Given the description of an element on the screen output the (x, y) to click on. 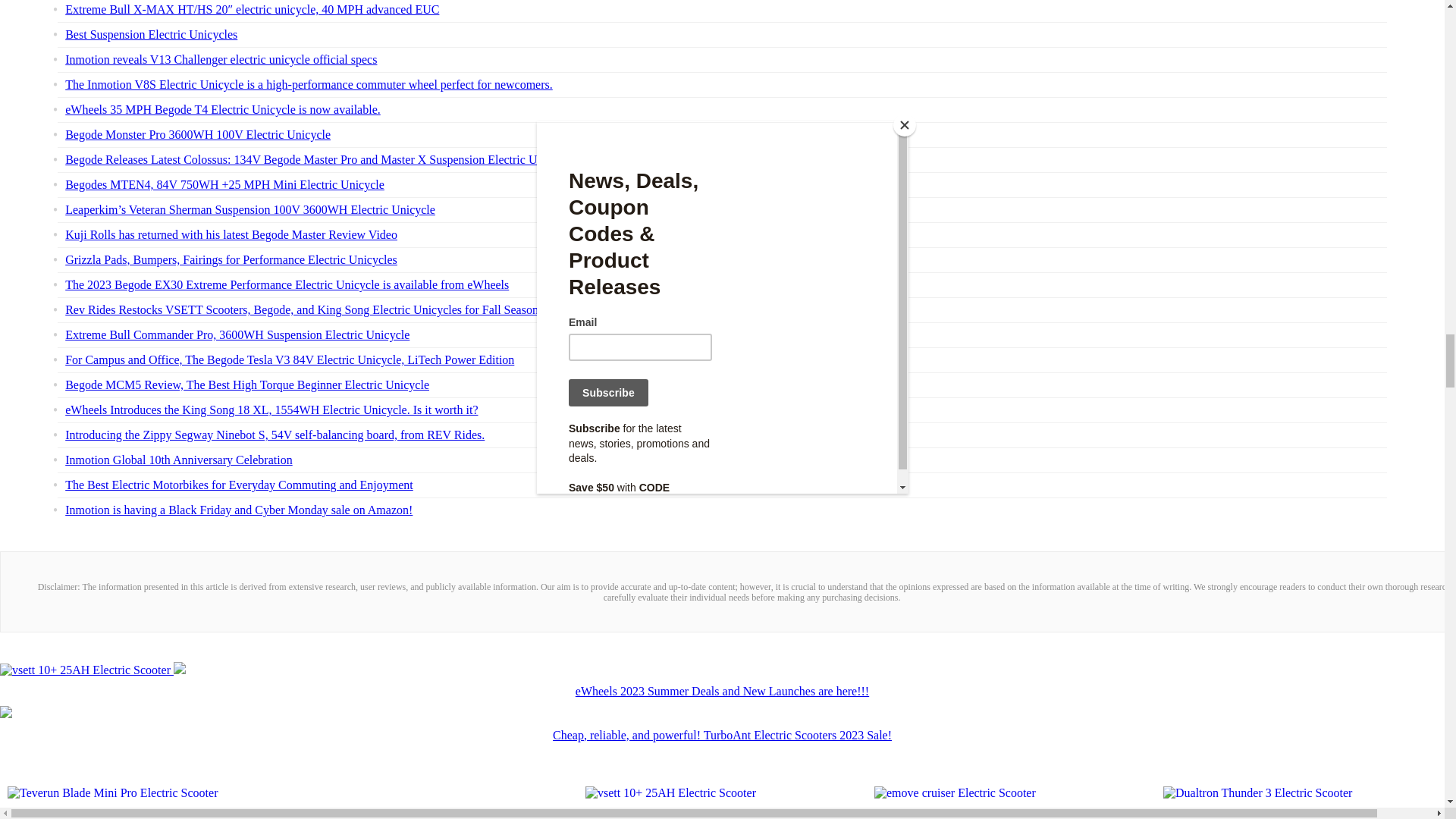
Begode Monster Pro 3600WH 100V Electric Unicycle (197, 133)
Best Suspension Electric Unicycles (151, 33)
eWheels 35 MPH Begode T4 Electric Unicycle is now available. (222, 109)
